Given the description of an element on the screen output the (x, y) to click on. 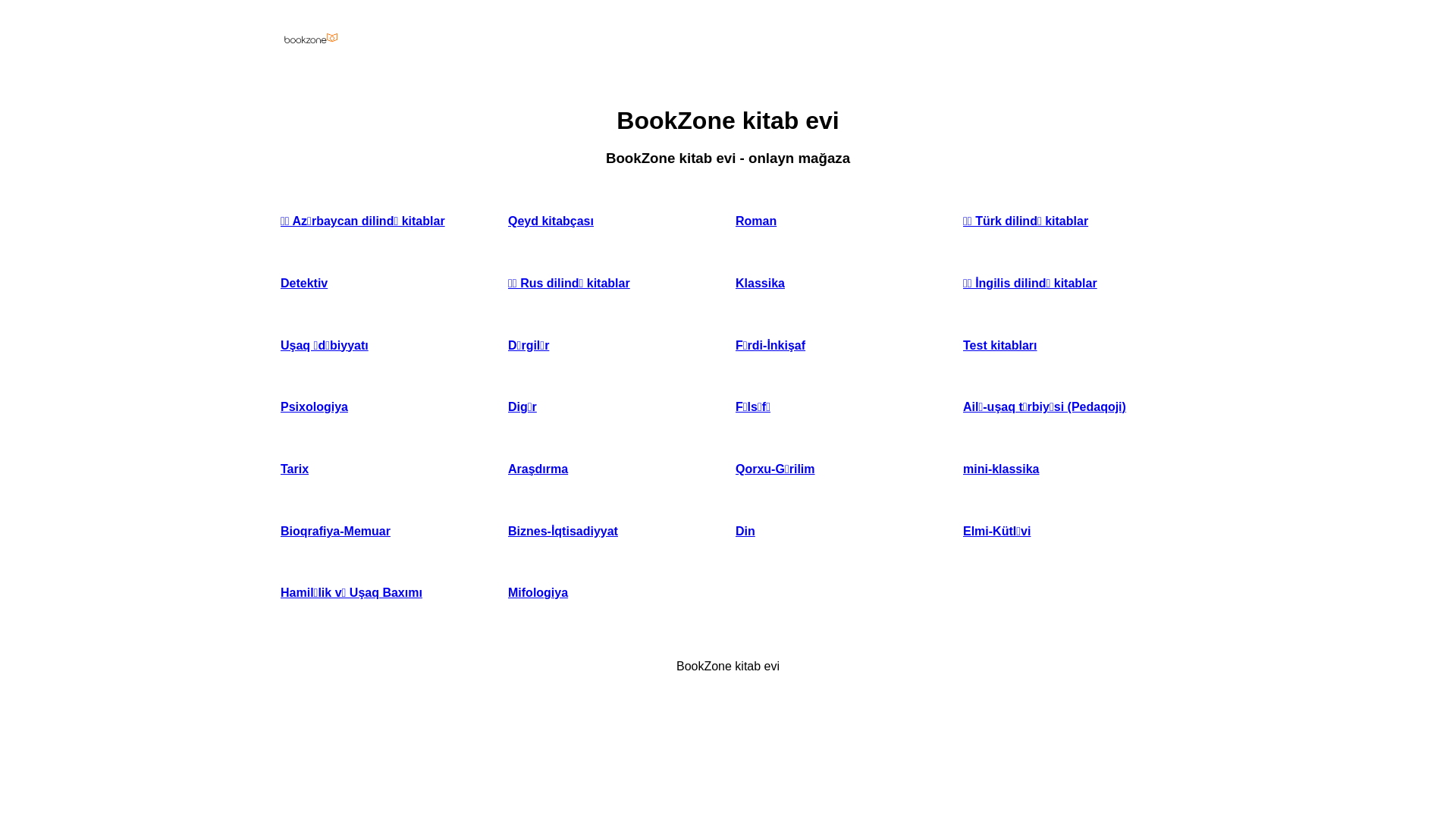
Mifologiya Element type: text (614, 592)
mini-klassika Element type: text (1069, 468)
Detektiv Element type: text (386, 283)
Klassika Element type: text (841, 283)
Din Element type: text (841, 531)
Bioqrafiya-Memuar Element type: text (386, 531)
Psixologiya Element type: text (386, 406)
Tarix Element type: text (386, 468)
Roman Element type: text (841, 220)
